Given the description of an element on the screen output the (x, y) to click on. 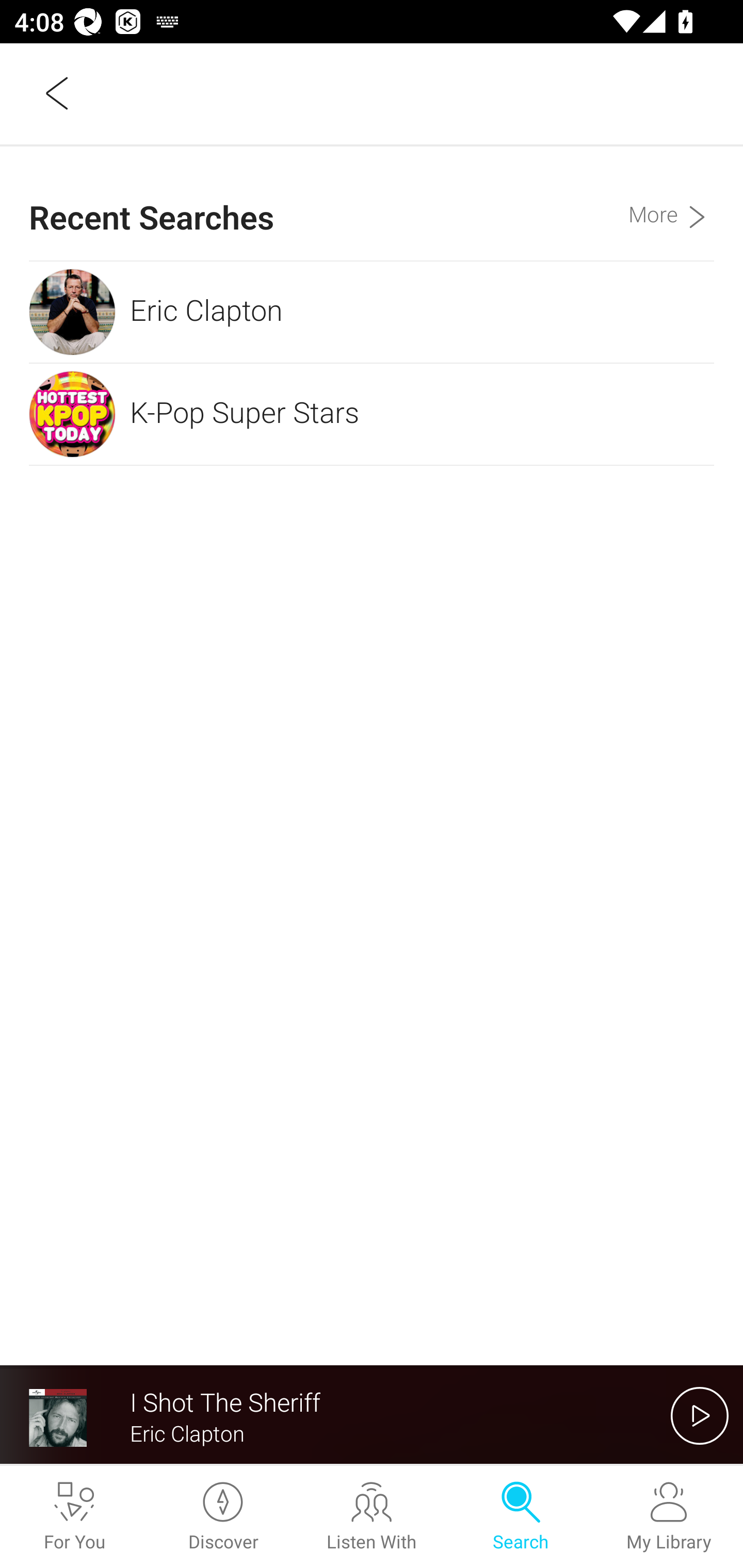
Back,outside of the list (57, 93)
More Recent Searches More (671, 202)
Eric Clapton (371, 311)
K-Pop Super Stars (371, 413)
開始播放 (699, 1415)
For You (74, 1517)
Discover (222, 1517)
Listen With (371, 1517)
Search (519, 1517)
My Library (668, 1517)
